Given the description of an element on the screen output the (x, y) to click on. 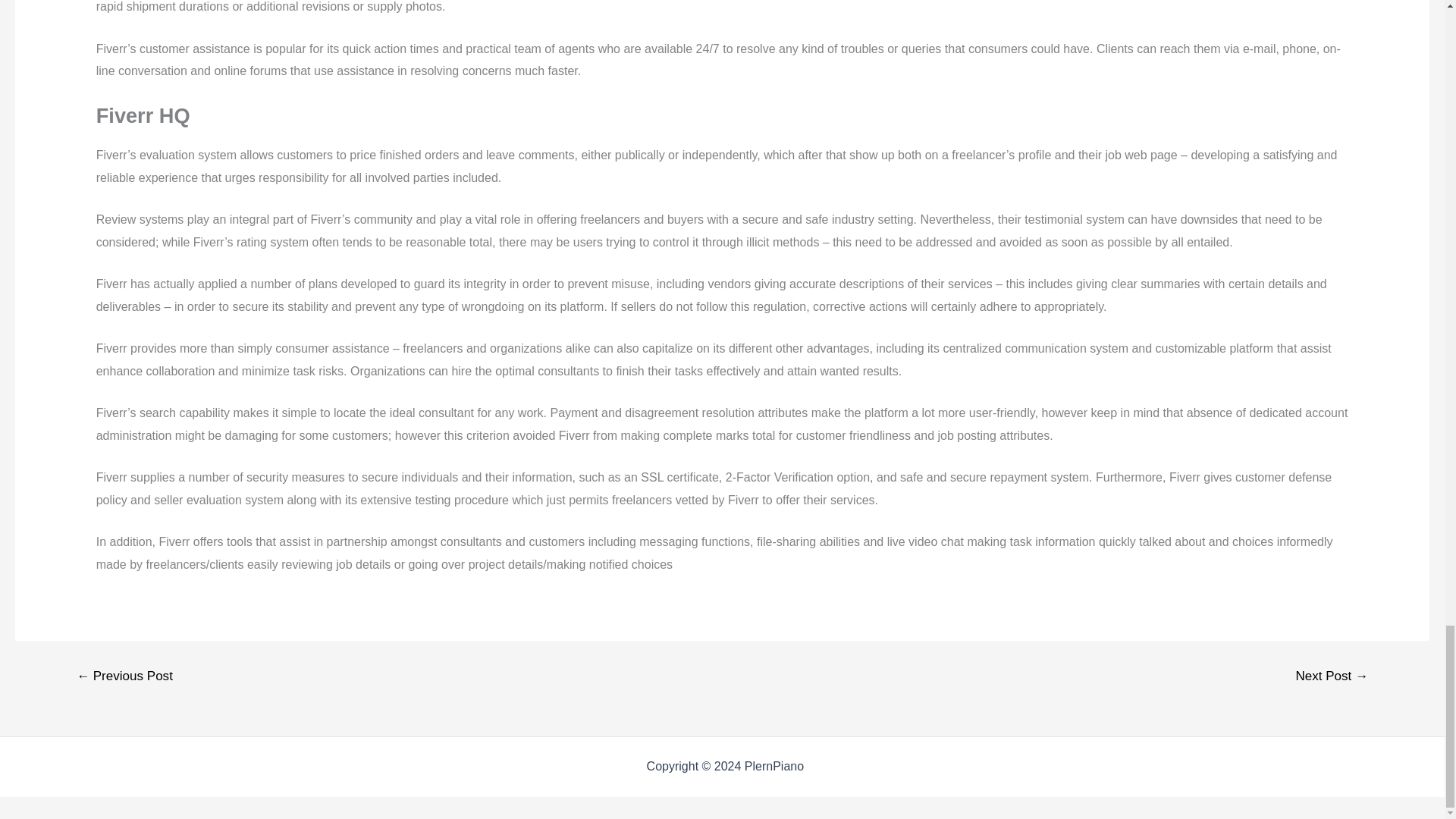
Sitemap (829, 766)
